Given the description of an element on the screen output the (x, y) to click on. 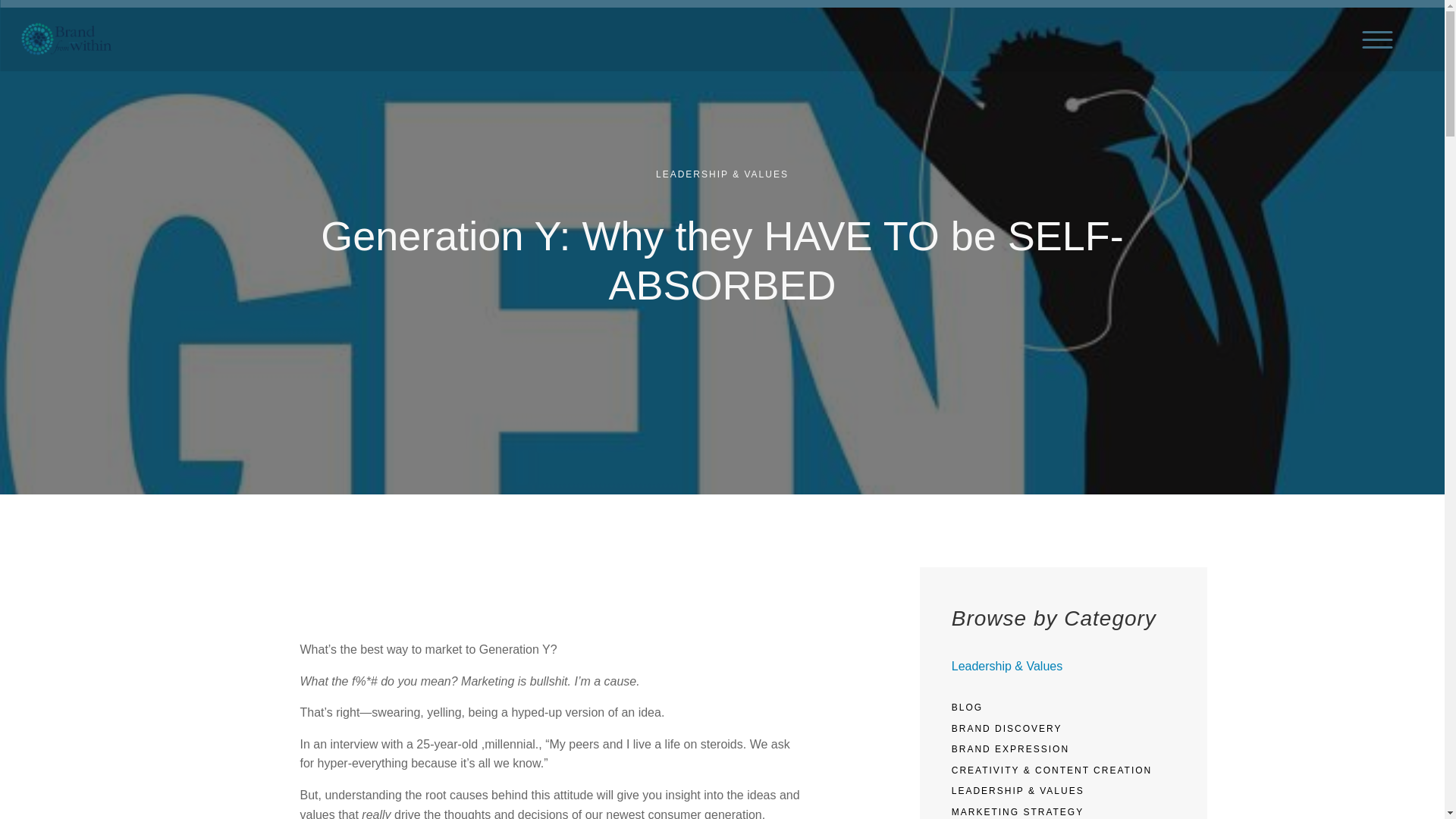
MARKETING STRATEGY (1017, 811)
BLOG (967, 706)
BRAND DISCOVERY (1007, 728)
BRAND EXPRESSION (1010, 748)
